Given the description of an element on the screen output the (x, y) to click on. 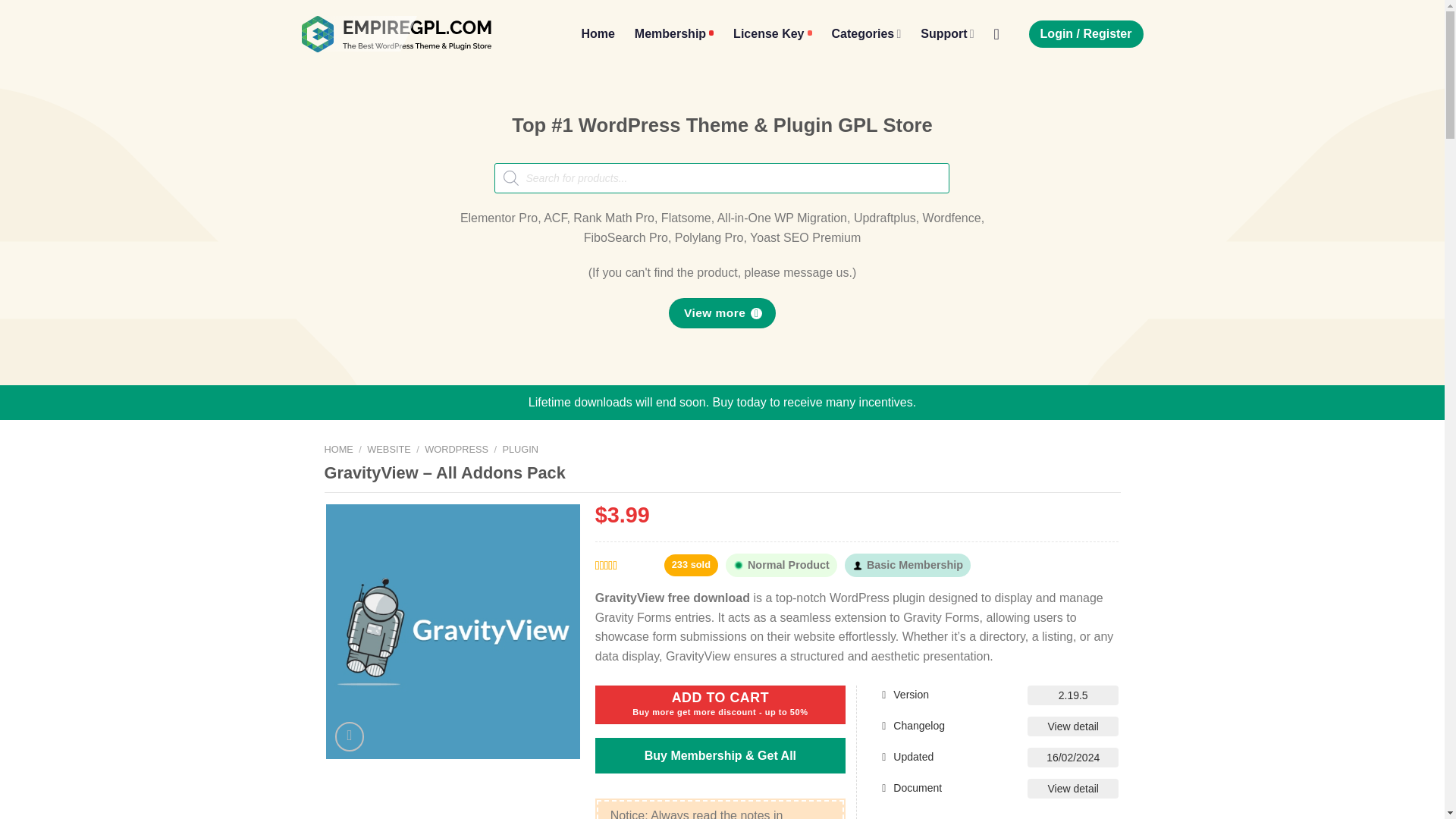
License Key (771, 33)
WEBSITE (388, 449)
Zoom (349, 736)
PLUGIN (520, 449)
View detail (1072, 725)
View detail (1072, 787)
changelog (1072, 725)
Hot (673, 33)
HOME (338, 449)
WORDPRESS (456, 449)
